Given the description of an element on the screen output the (x, y) to click on. 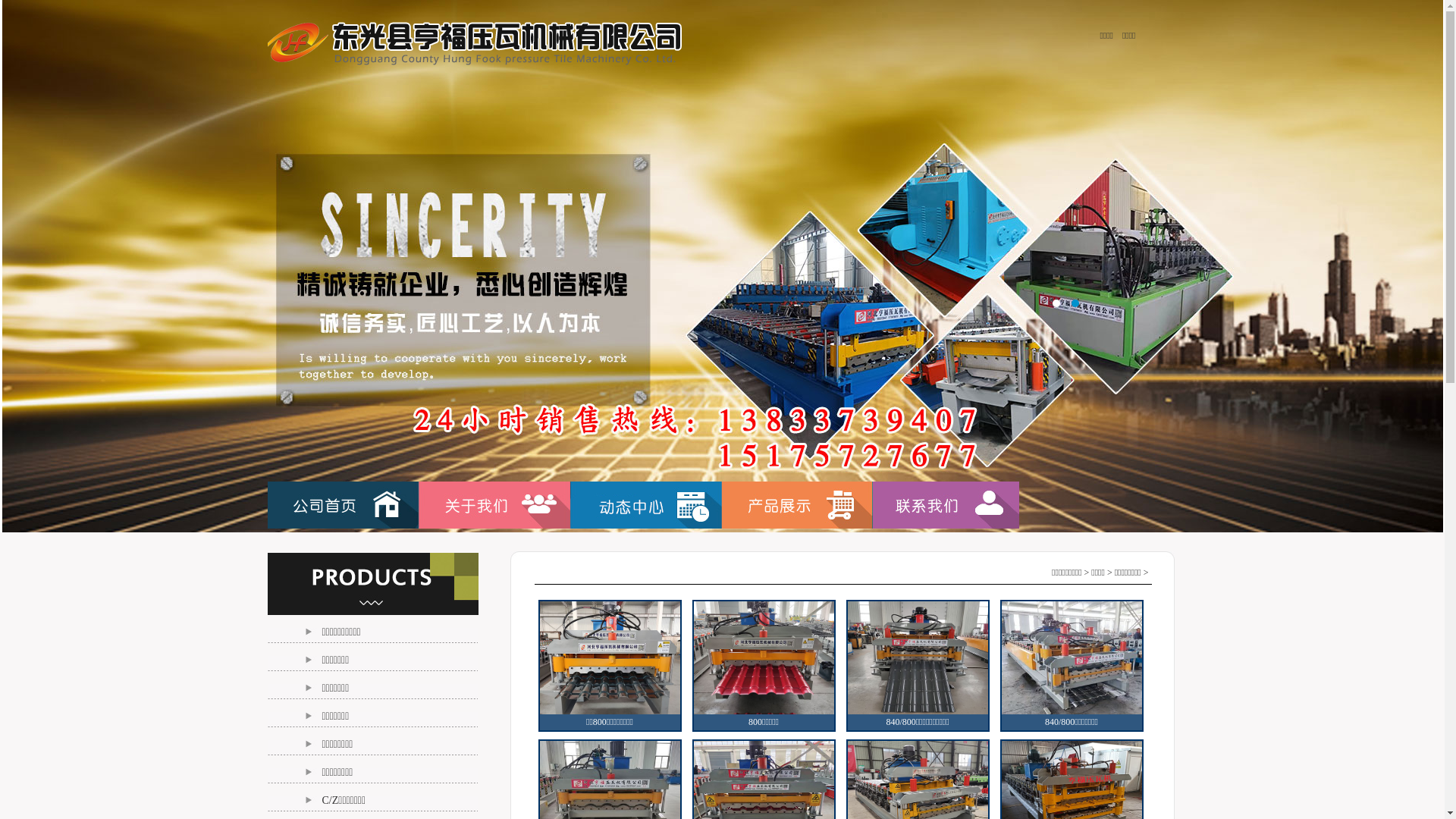
2 Element type: text (1074, 303)
1 Element type: text (1056, 303)
